Given the description of an element on the screen output the (x, y) to click on. 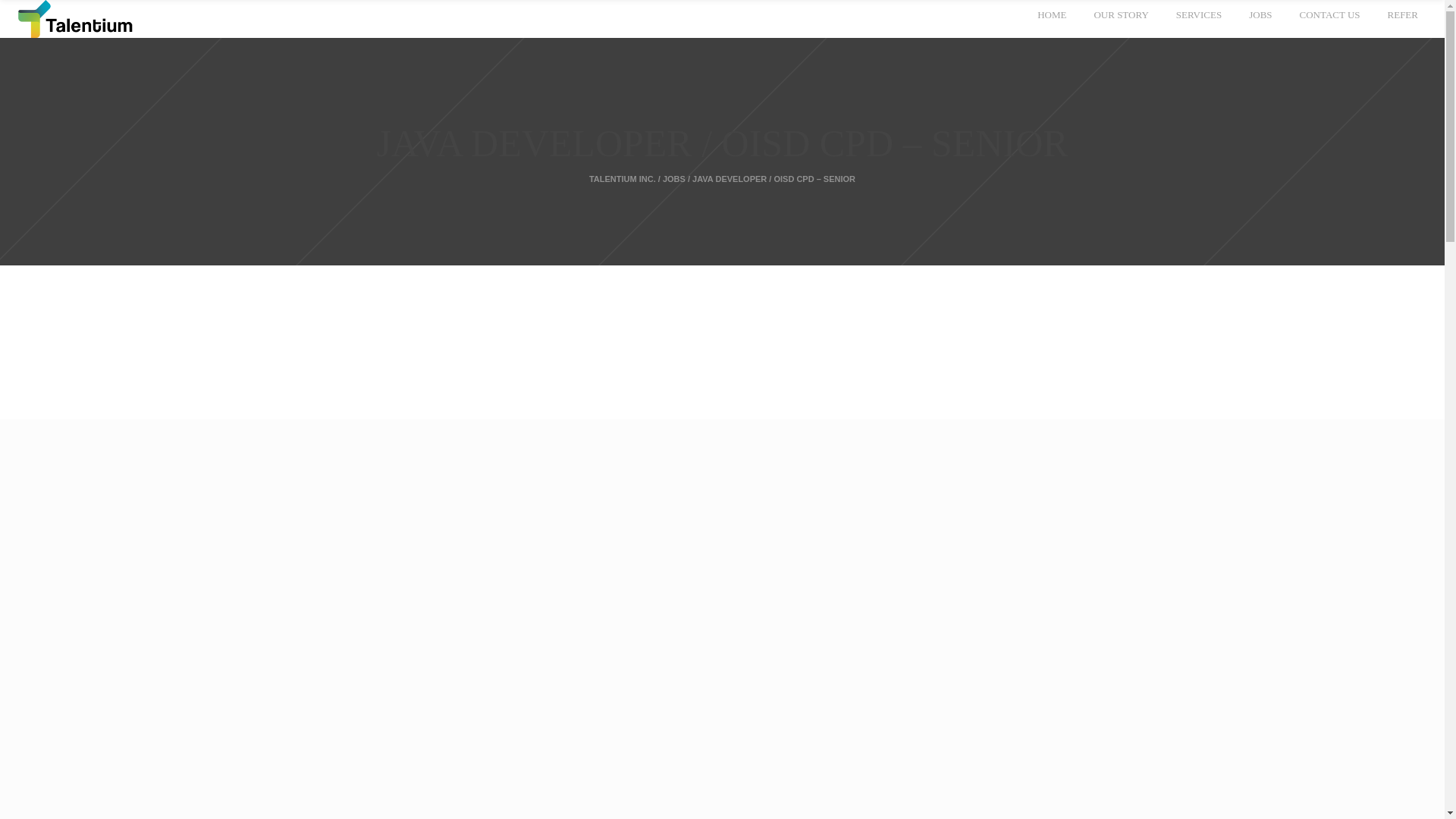
HOME (1049, 18)
CONTACT US (1327, 18)
OUR STORY (1117, 18)
SERVICES (1196, 18)
REFER (1400, 18)
JOBS (1257, 18)
